Given the description of an element on the screen output the (x, y) to click on. 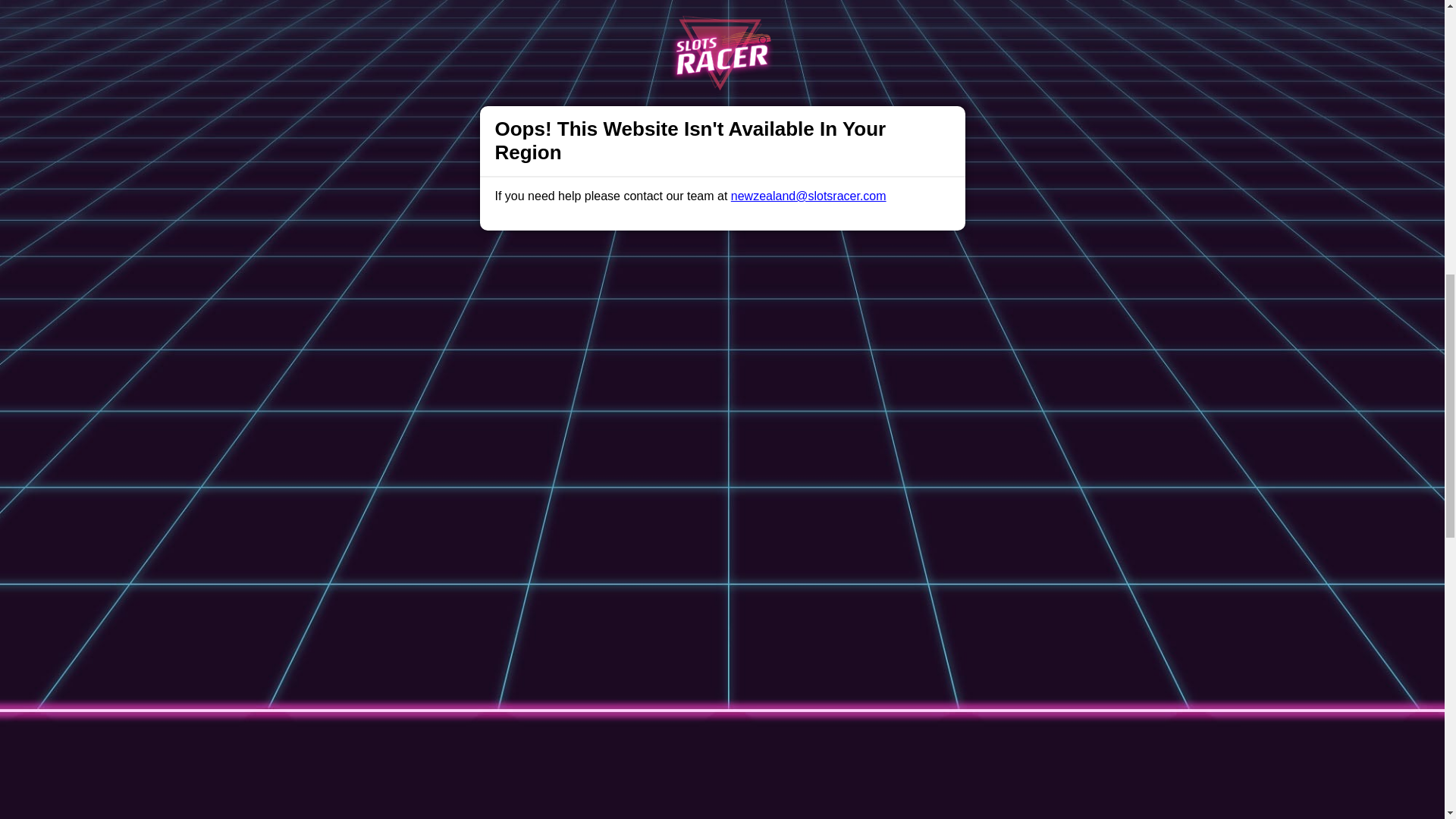
Mermaids Millions Slot (448, 84)
Aloha! Slot Game (435, 112)
Shamans Dream Online Slot (464, 98)
slot games (561, 295)
new slot sites (663, 45)
Chilli Heat (416, 125)
